Given the description of an element on the screen output the (x, y) to click on. 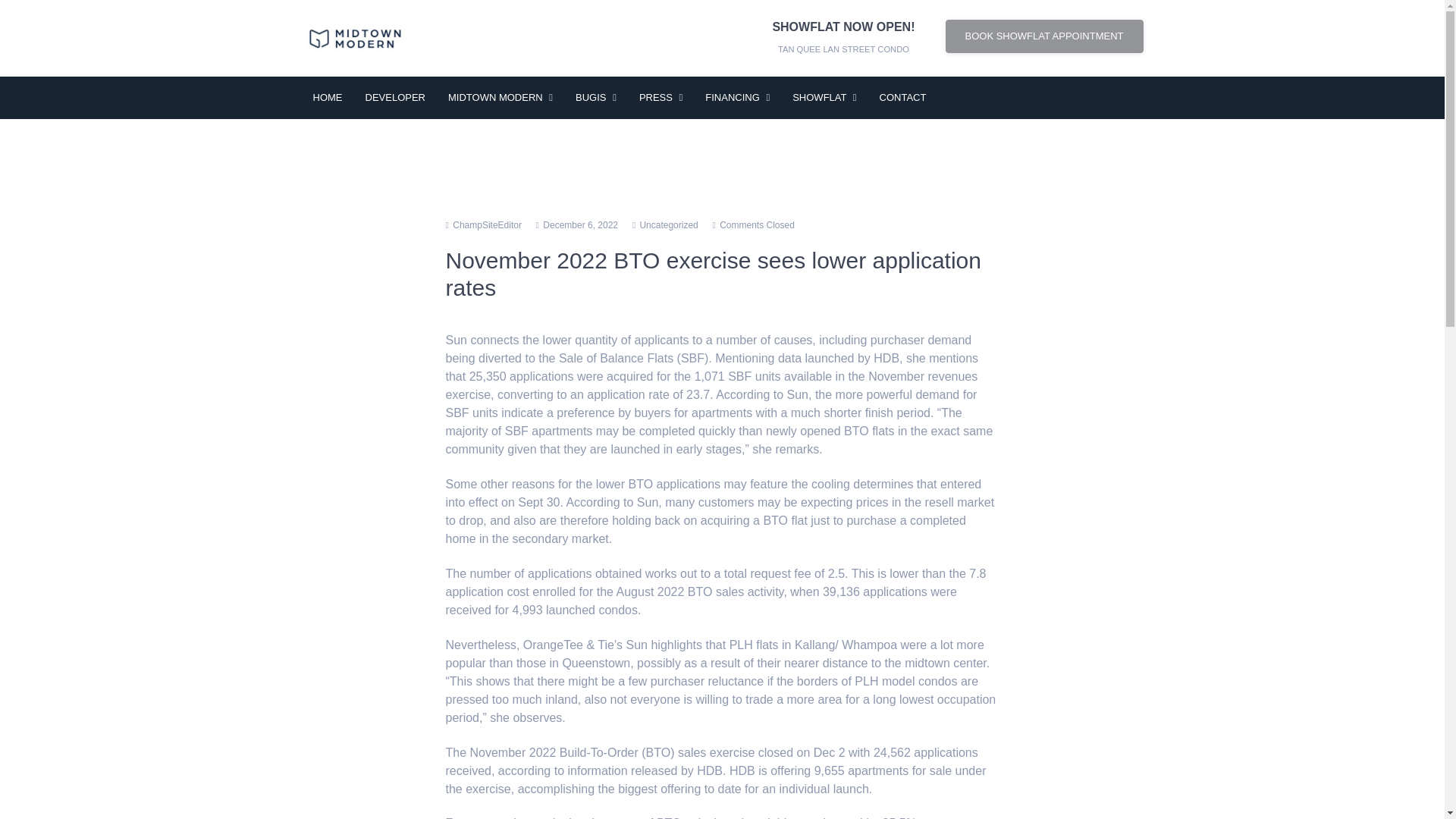
HOME (327, 97)
FINANCING (737, 97)
Developer (394, 97)
Press (660, 97)
MIDTOWN MODERN (500, 97)
PRESS (660, 97)
DEVELOPER (394, 97)
Uncategorized (668, 225)
BOOK SHOWFLAT APPOINTMENT (1043, 36)
CONTACT (902, 97)
